Given the description of an element on the screen output the (x, y) to click on. 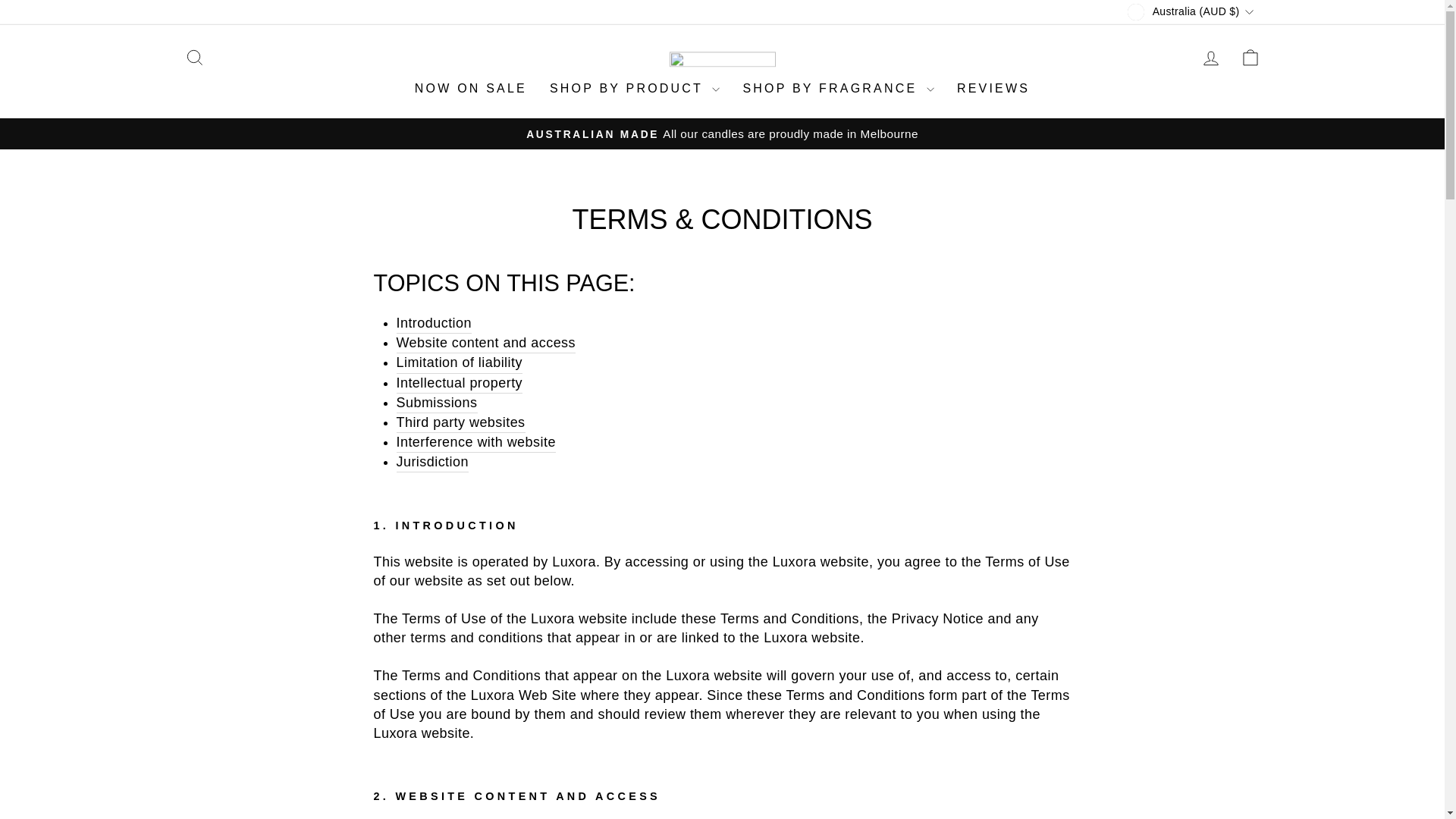
ACCOUNT (194, 56)
ICON-SEARCH (1210, 57)
ICON-BAG-MINIMAL (194, 56)
